Given the description of an element on the screen output the (x, y) to click on. 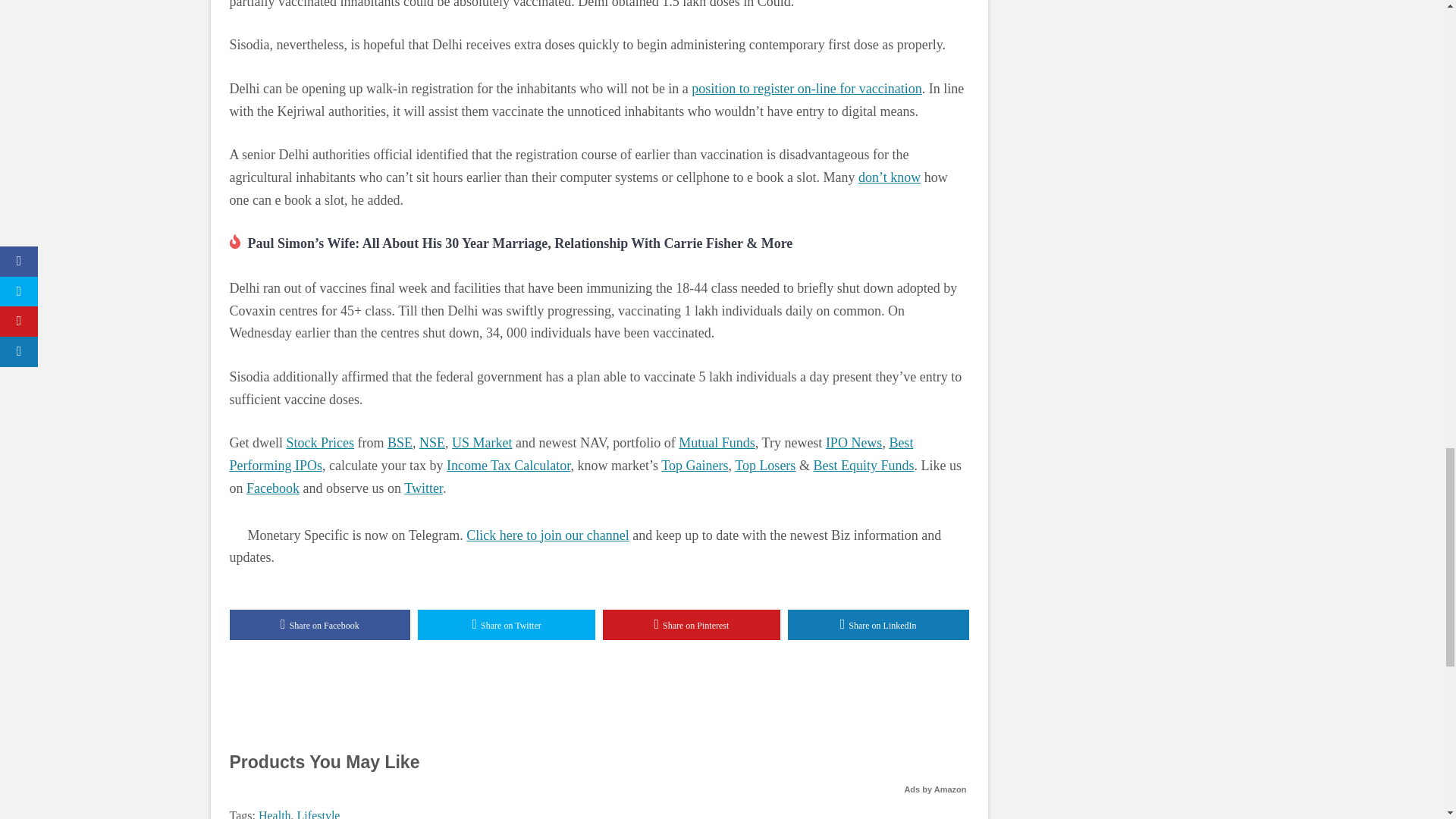
position to register on-line for vaccination (806, 88)
